Given the description of an element on the screen output the (x, y) to click on. 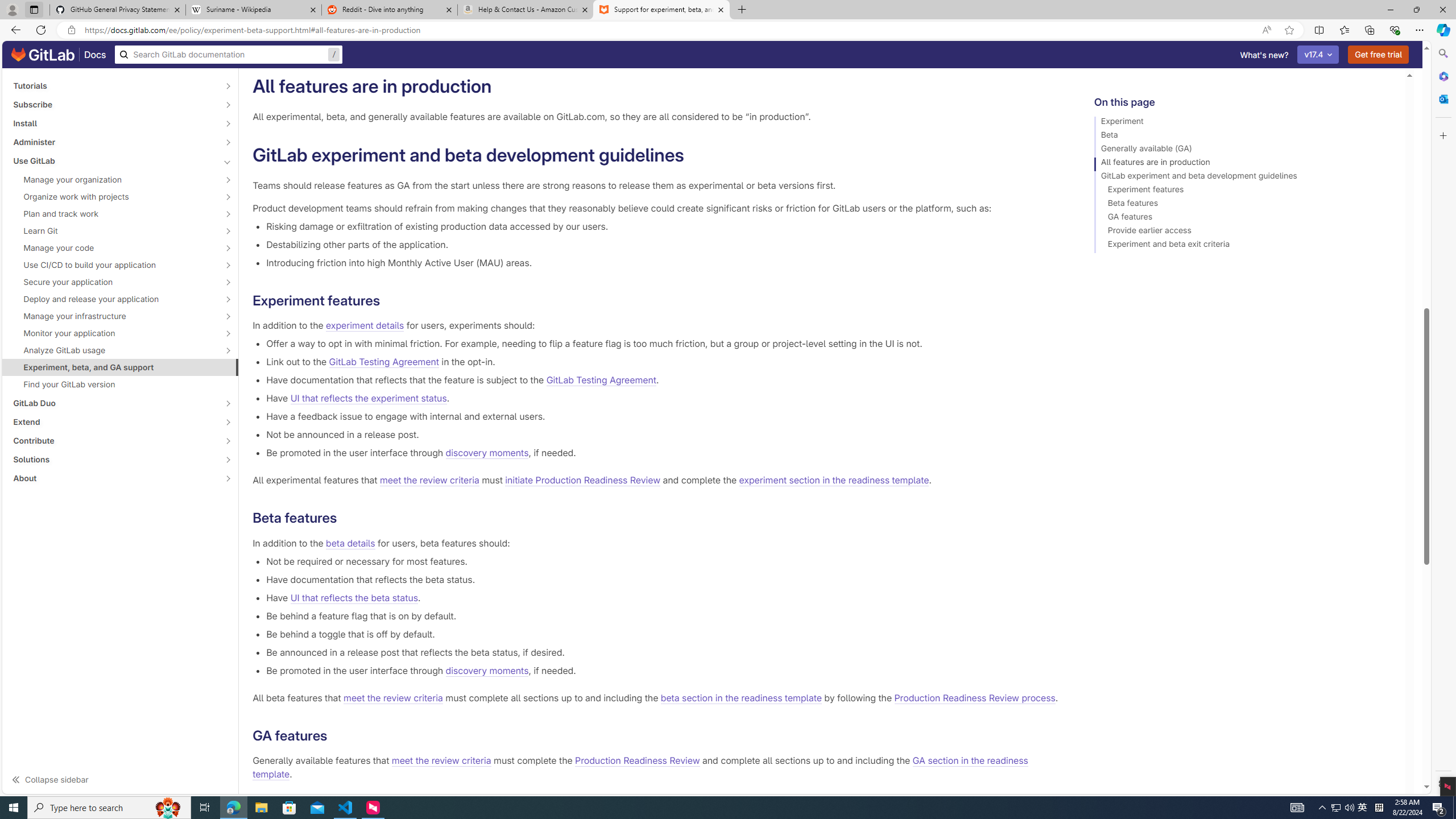
What's new? (1263, 54)
Generally available (GA) (1244, 150)
/ (229, 54)
Experiment (1244, 123)
Link out to the GitLab Testing Agreement in the opt-in. (662, 361)
Beta (1244, 136)
Experiment and beta exit criteria (1244, 246)
Suriname - Wikipedia (253, 9)
v17.4 (1318, 54)
Provide earlier access (1244, 232)
GA section in the readiness template (639, 767)
Monitor your application (113, 333)
Be behind a feature flag that is on by default. (662, 615)
